Given the description of an element on the screen output the (x, y) to click on. 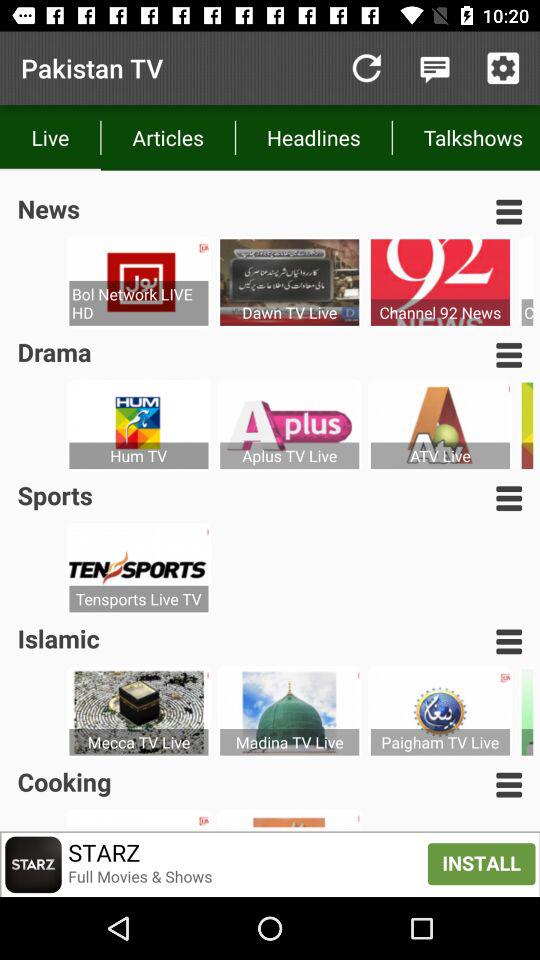
select islamic item (58, 638)
